Given the description of an element on the screen output the (x, y) to click on. 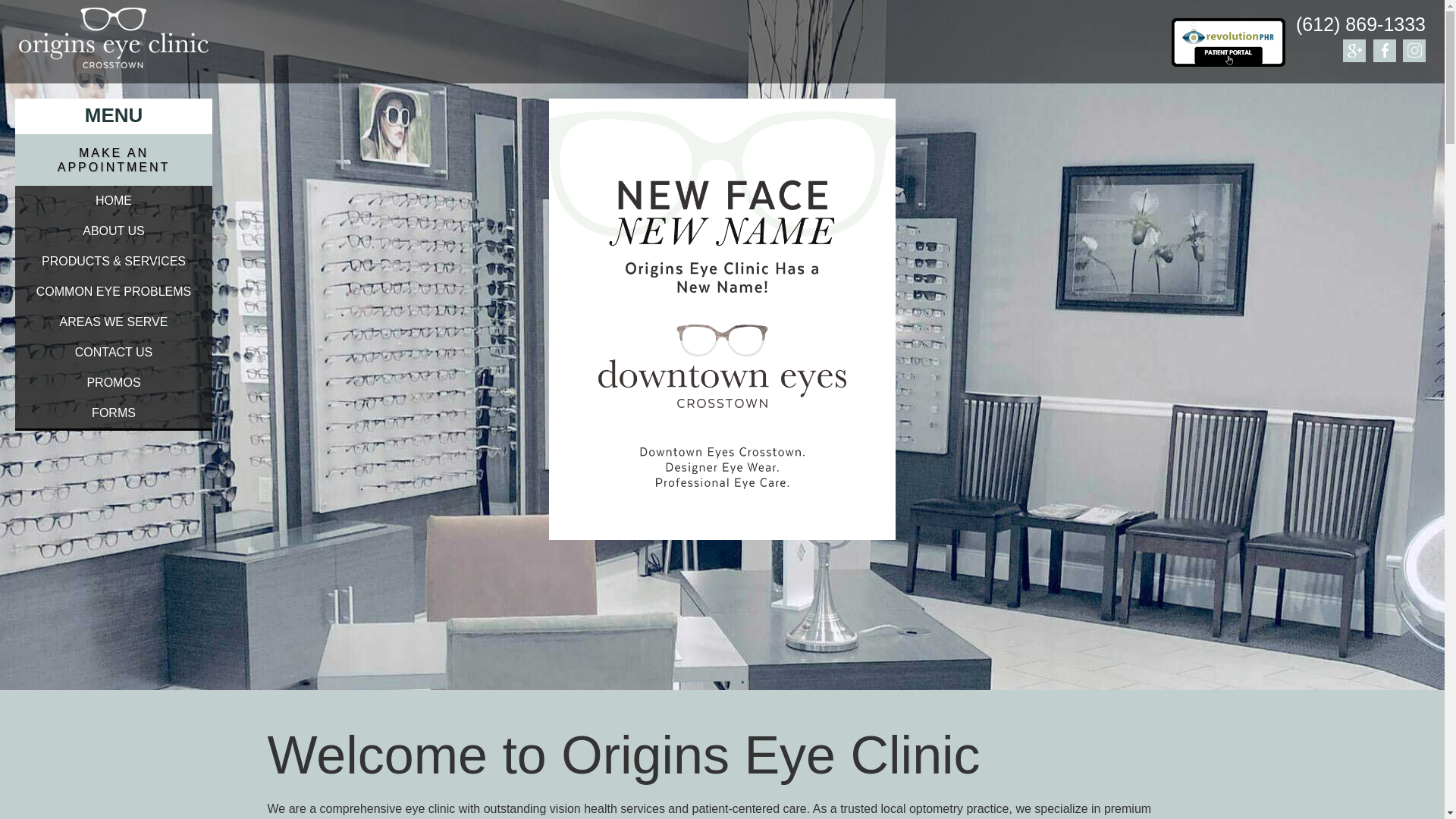
FORMS (113, 413)
CONTACT US (113, 352)
Patient Portal (1228, 42)
MAKE AN APPOINTMENT (113, 159)
Origins Eye Clinic (113, 38)
HOME (113, 200)
AREAS WE SERVE (113, 322)
COMMON EYE PROBLEMS (113, 291)
Instagram (1414, 50)
PROMOS (113, 382)
Facebook (1384, 50)
ABOUT US (113, 231)
